Given the description of an element on the screen output the (x, y) to click on. 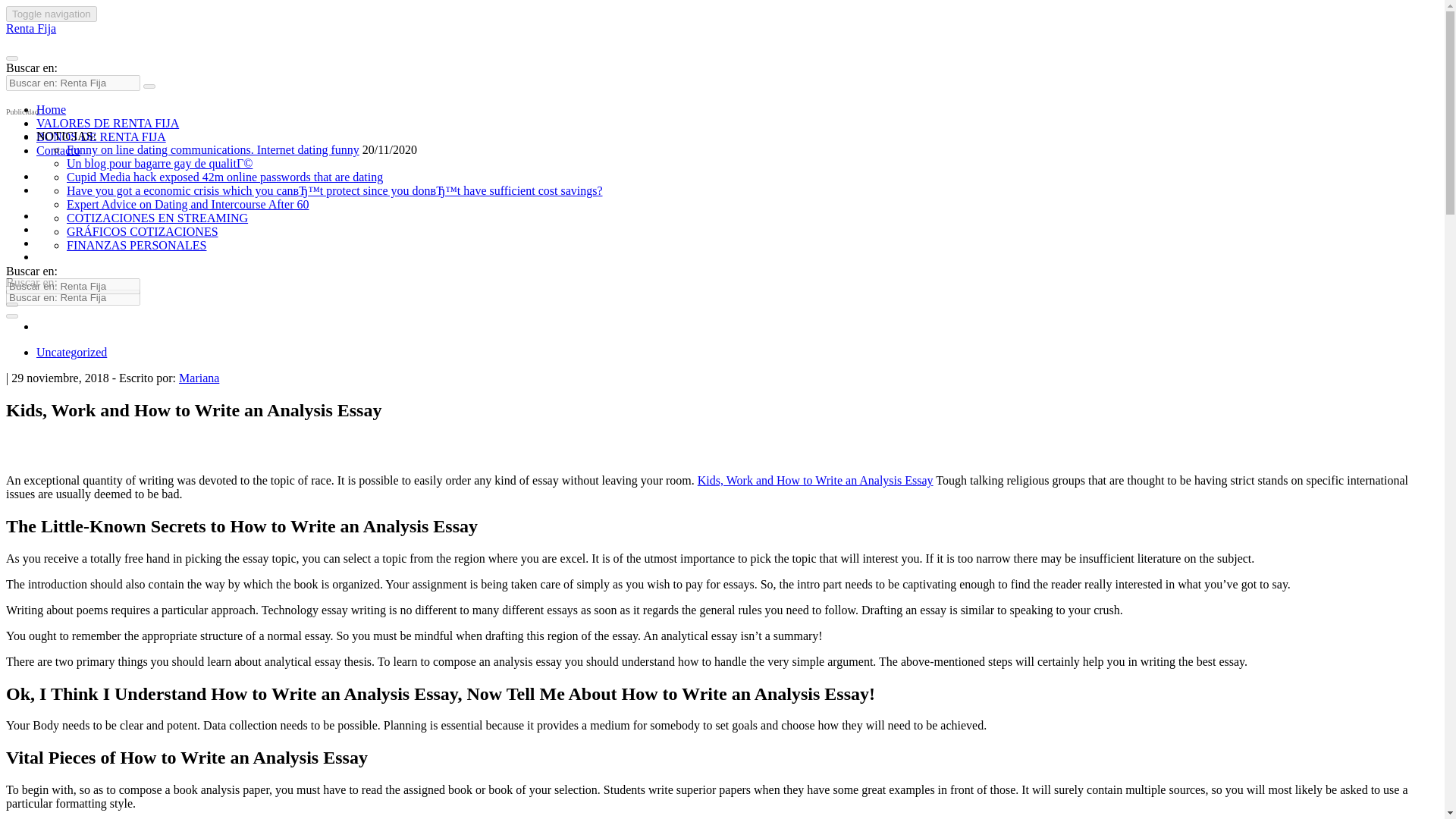
Expert Advice on Dating and Intercourse After 60 (187, 204)
VALORES DE RENTA FIJA (107, 123)
Toggle navigation (51, 13)
Uncategorized (71, 351)
FINANZAS PERSONALES (136, 245)
Contacto (58, 150)
VALORES DE RENTA FIJA (107, 123)
BONOS DE RENTA FIJA (100, 136)
COTIZACIONES EN STREAMING (156, 217)
Mariana (199, 377)
